Given the description of an element on the screen output the (x, y) to click on. 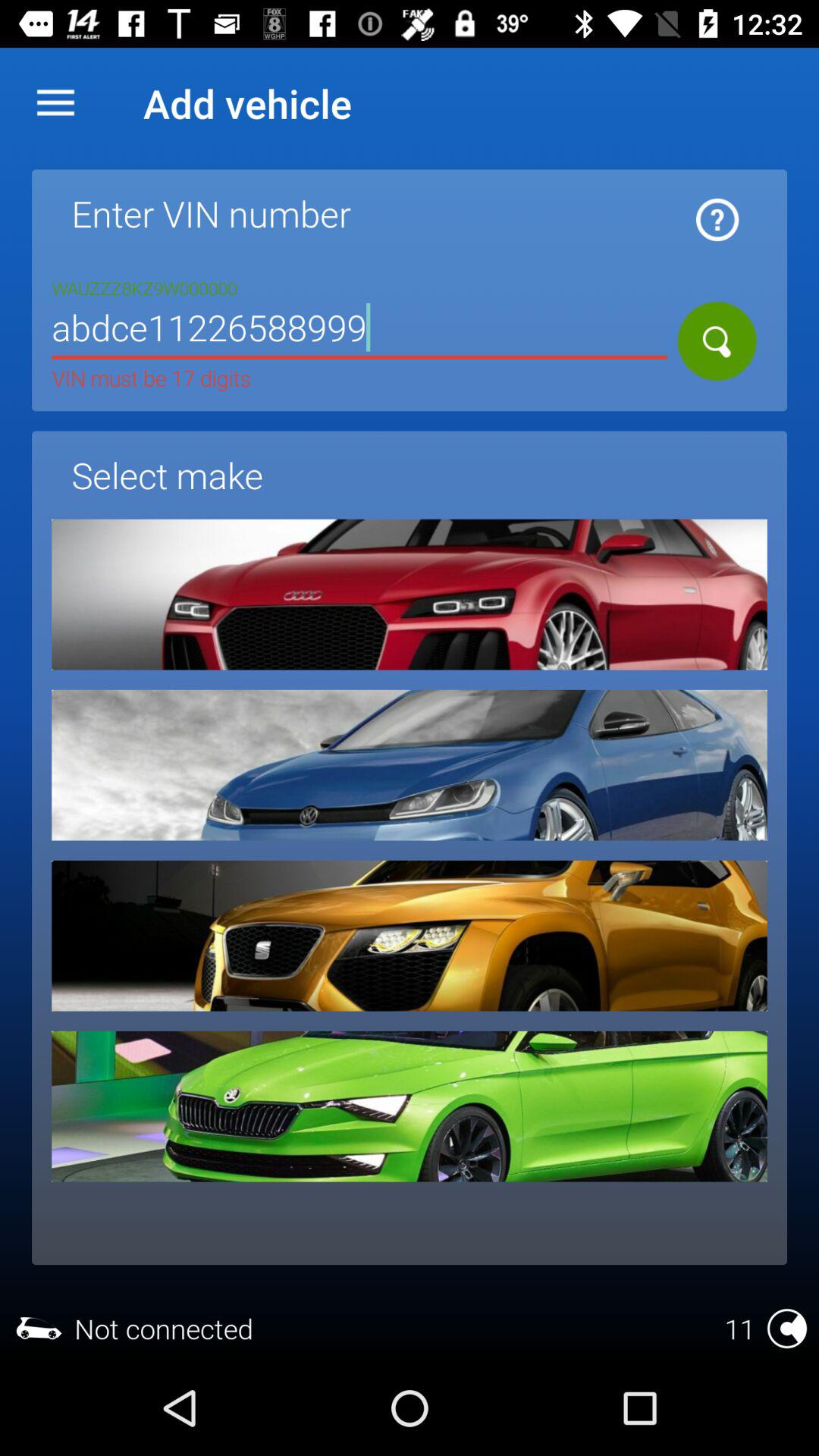
make the search icon the same one as the white (717, 341)
